Given the description of an element on the screen output the (x, y) to click on. 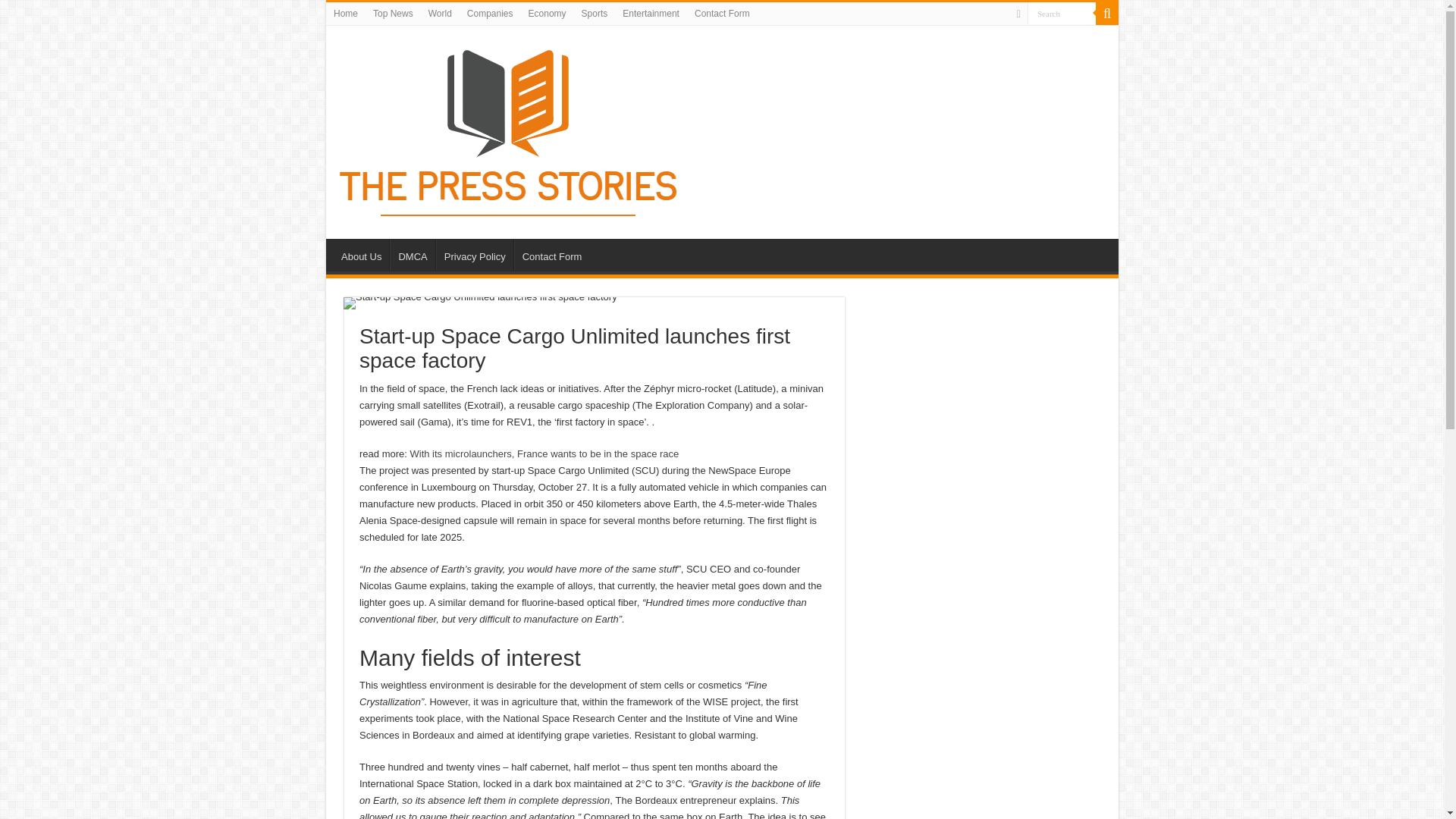
Search (1107, 13)
Companies (490, 13)
Search (1061, 13)
Privacy Policy (474, 255)
Search (1061, 13)
DMCA (411, 255)
Economy (547, 13)
Home (345, 13)
Search (1061, 13)
Contact Form (551, 255)
Entertainment (650, 13)
Contact Form (722, 13)
The Press Stories (509, 129)
World (440, 13)
